Given the description of an element on the screen output the (x, y) to click on. 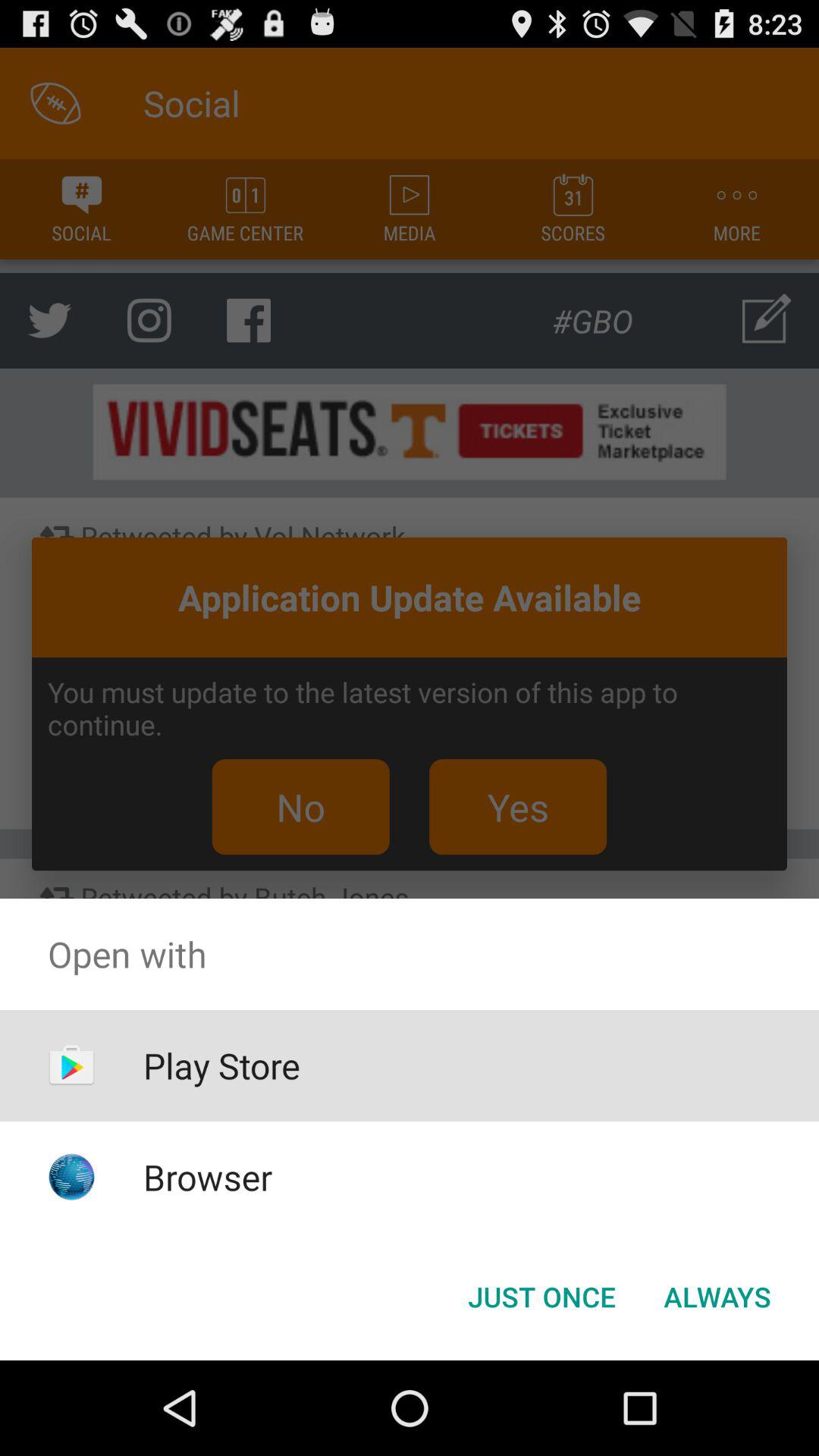
jump to browser (207, 1176)
